Given the description of an element on the screen output the (x, y) to click on. 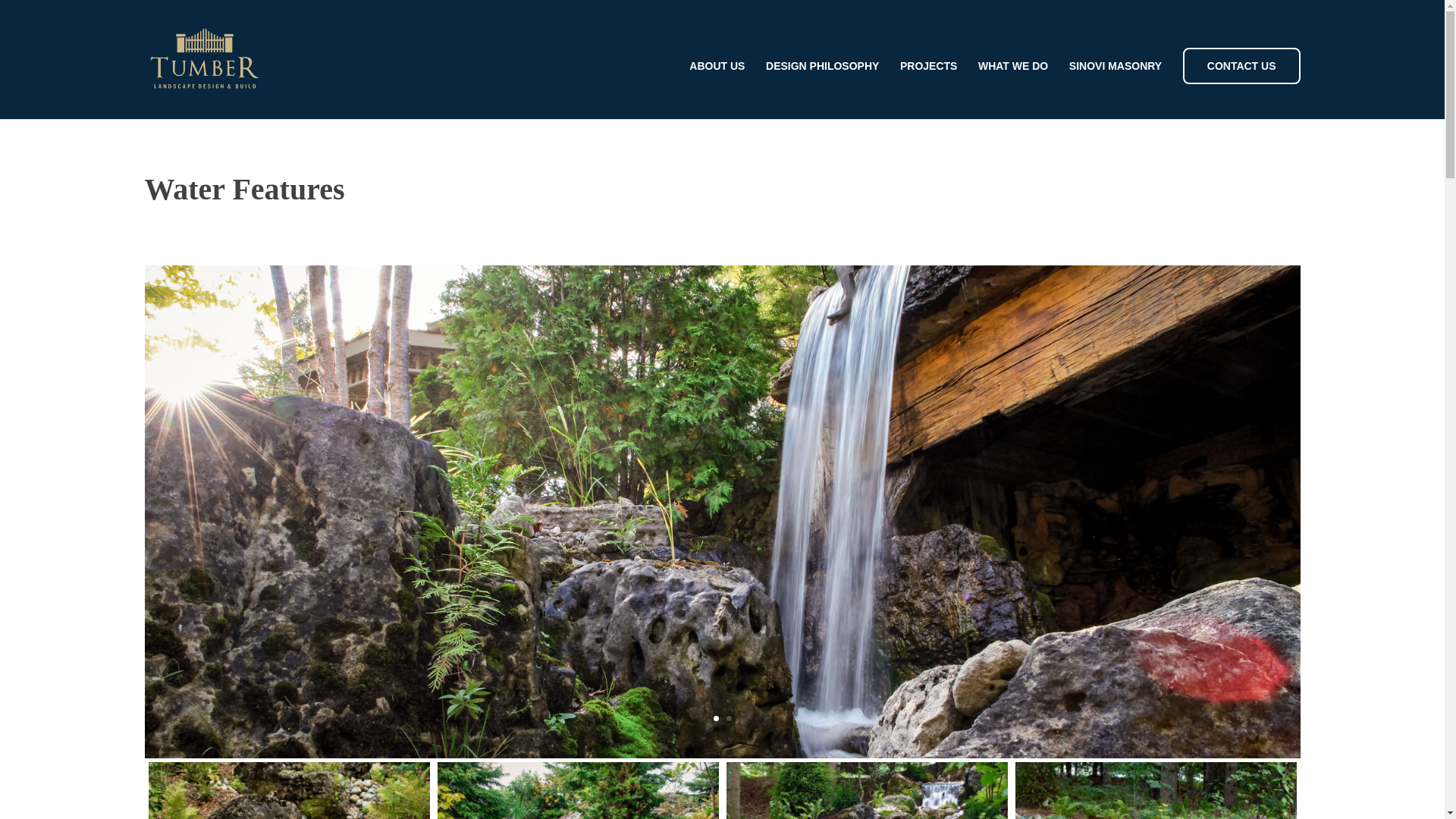
CONTACT US (1241, 65)
SINOVI MASONRY (1114, 89)
WHAT WE DO (1013, 89)
2 (729, 718)
DESIGN PHILOSOPHY (822, 89)
ABOUT US (716, 89)
PROJECTS (927, 89)
